Given the description of an element on the screen output the (x, y) to click on. 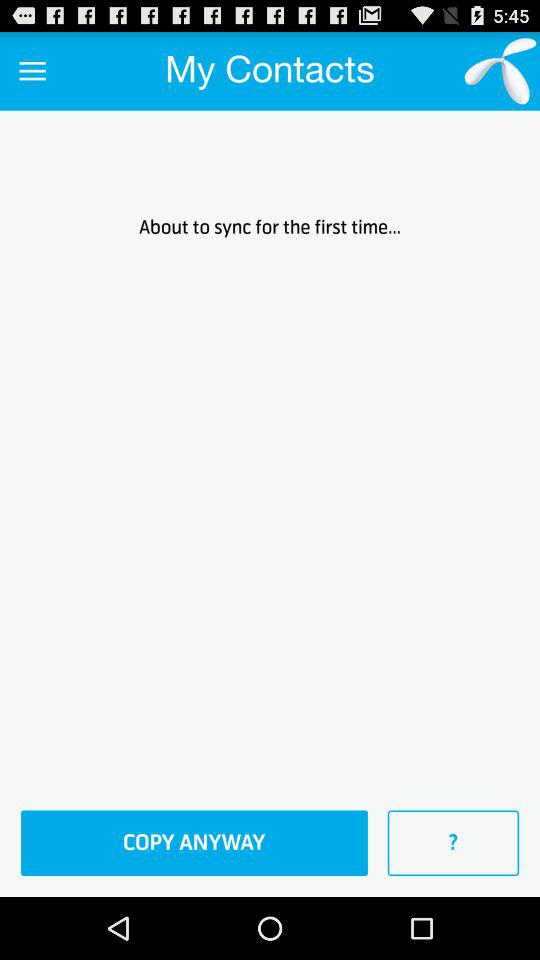
press item below the about to sync (453, 843)
